Given the description of an element on the screen output the (x, y) to click on. 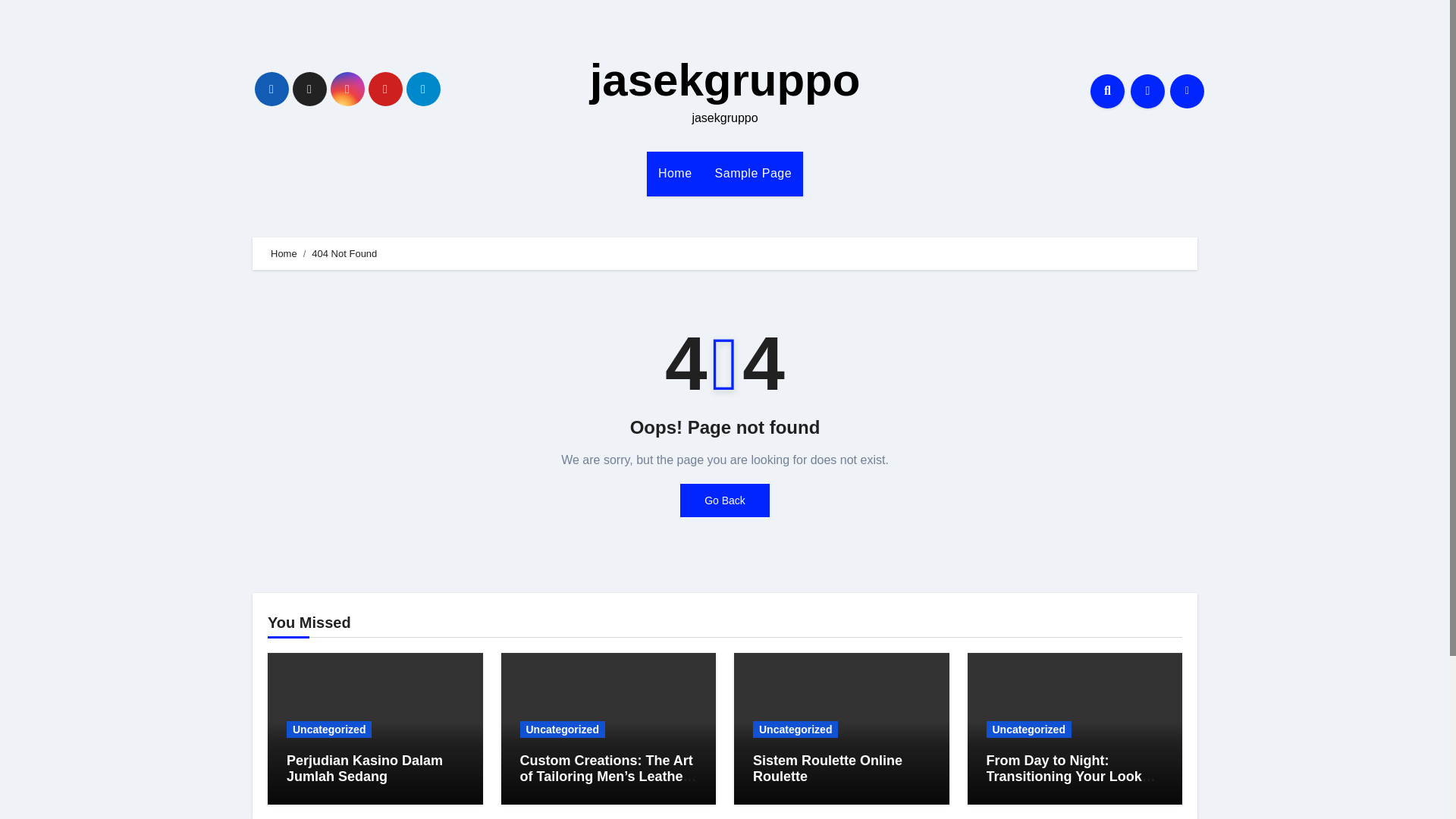
Uncategorized (562, 729)
Home (674, 173)
Home (283, 253)
Sistem Roulette Online Roulette (827, 768)
Go Back (724, 500)
Uncategorized (795, 729)
jasekgruppo (724, 79)
Permalink to: Perjudian Kasino Dalam Jumlah Sedang (364, 768)
Uncategorized (1027, 729)
